Given the description of an element on the screen output the (x, y) to click on. 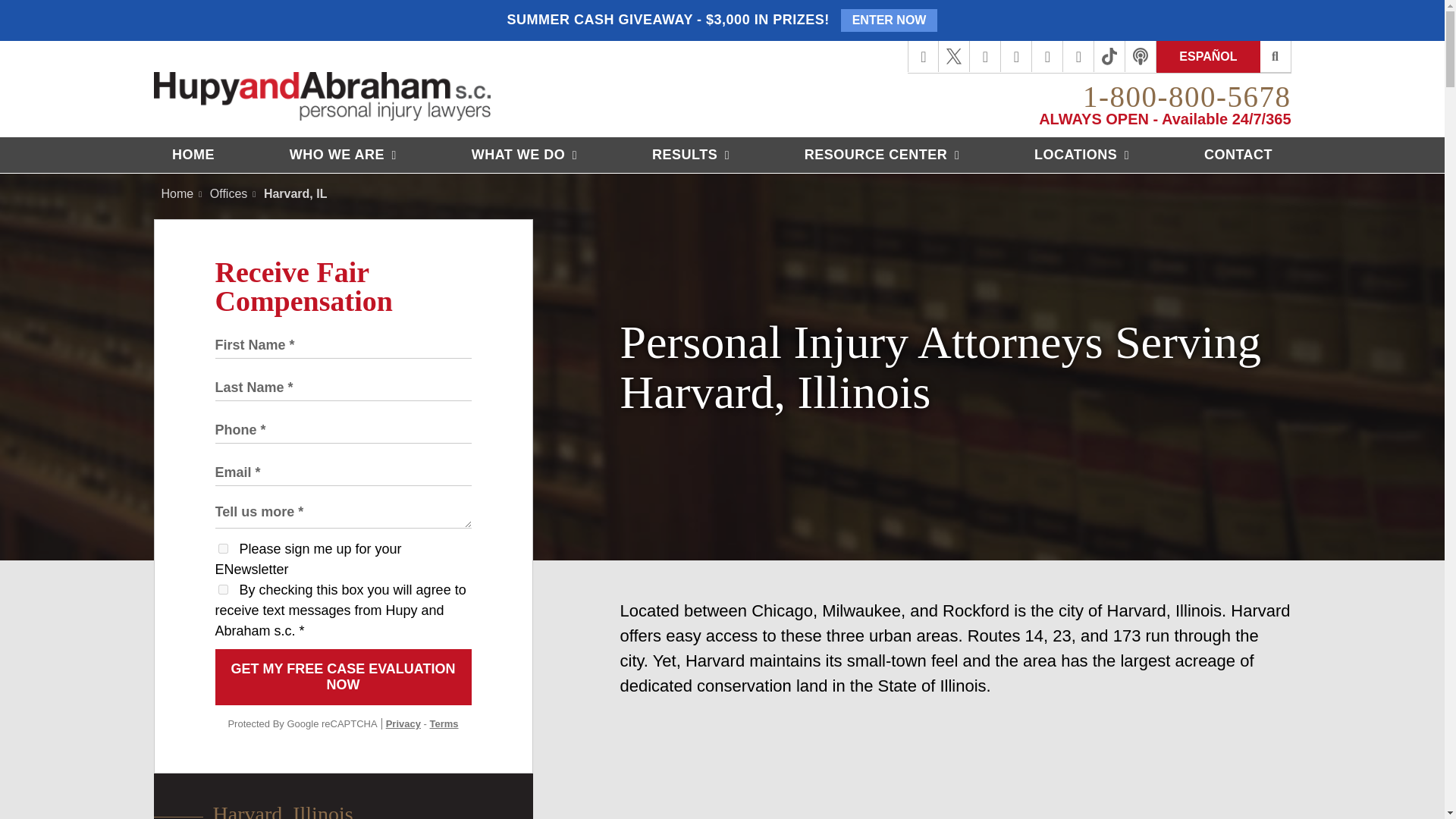
1-800-800-5678 (1186, 96)
Search (1275, 56)
ENTER NOW (889, 20)
Please sign me up for your ENewsletter (223, 548)
WHAT WE DO (523, 154)
HOME (193, 154)
WHO WE ARE (342, 154)
